Given the description of an element on the screen output the (x, y) to click on. 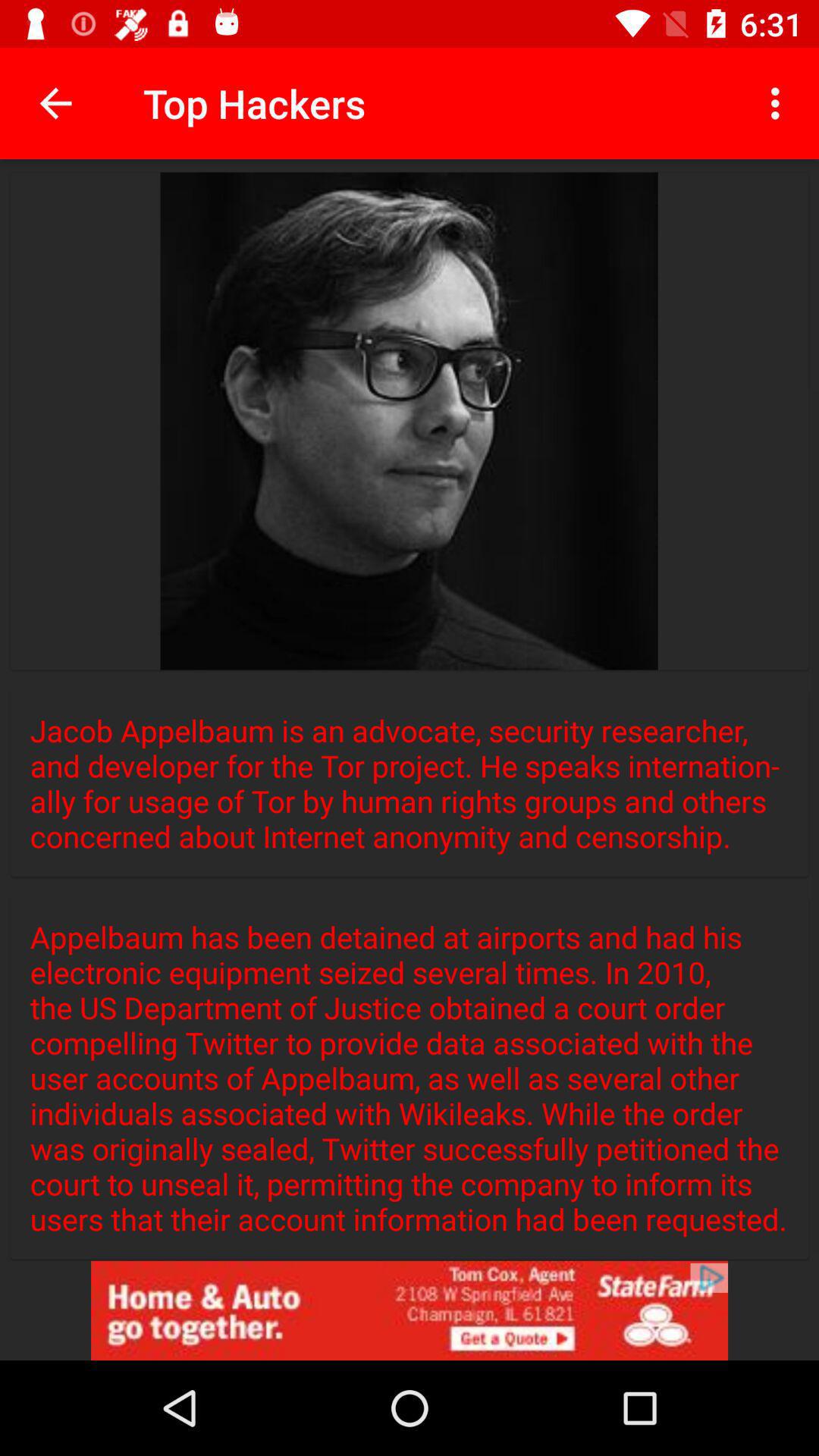
view app (409, 1310)
